Given the description of an element on the screen output the (x, y) to click on. 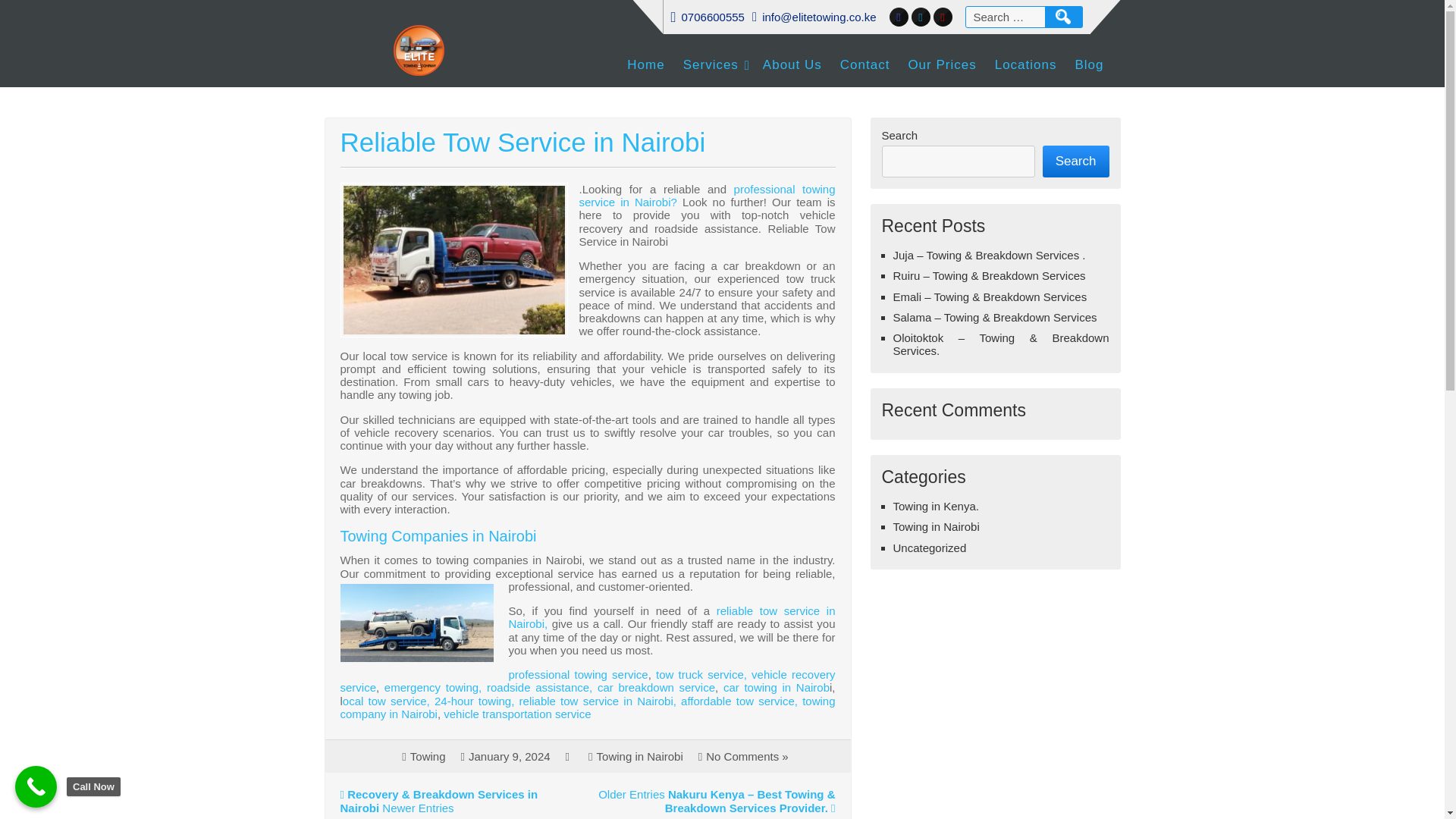
reliable tow service in Nairobi, (671, 616)
Services (713, 66)
Home (645, 66)
Search (1064, 16)
Search (1064, 16)
Contact (864, 66)
Locations (1026, 66)
Towing (427, 756)
professional towing service (577, 674)
